Given the description of an element on the screen output the (x, y) to click on. 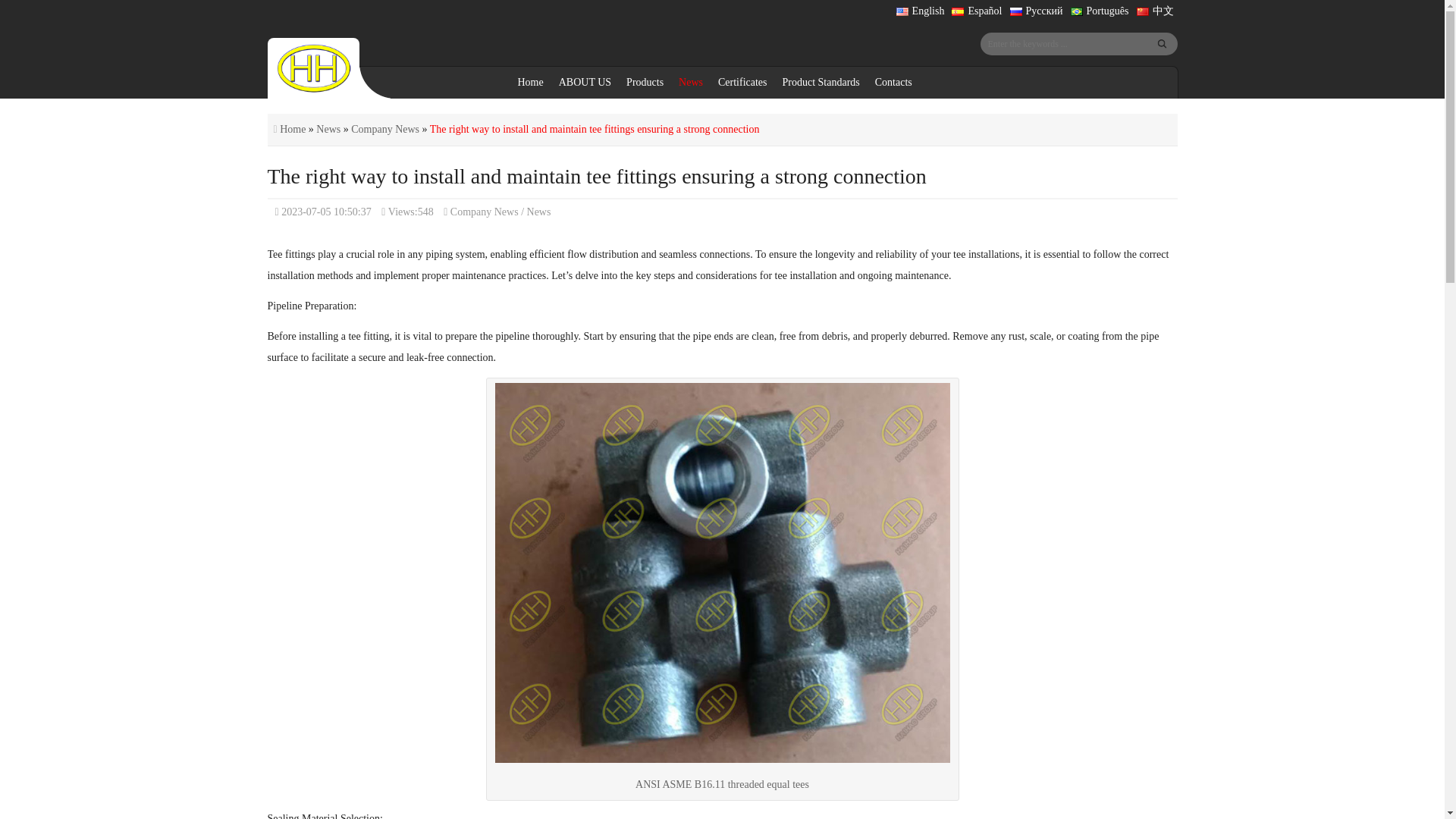
Product Standards (820, 82)
Products (644, 82)
Search (1161, 43)
Home (529, 82)
